Given the description of an element on the screen output the (x, y) to click on. 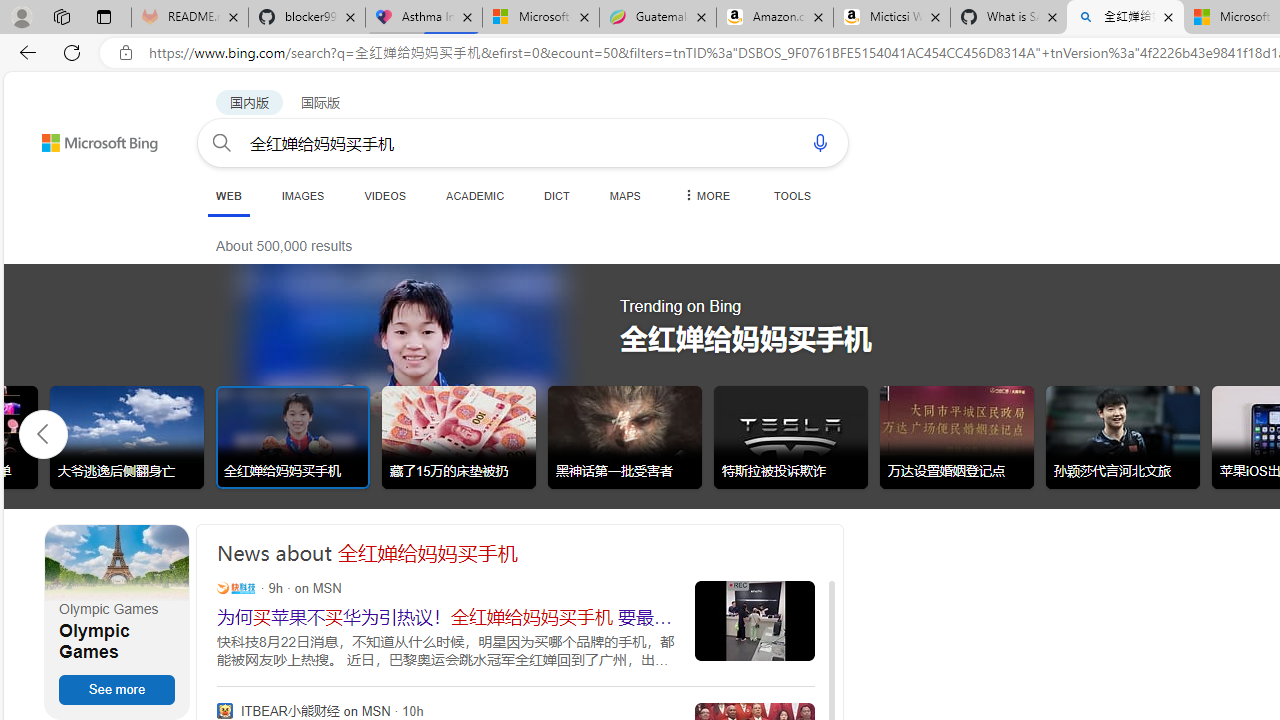
AutomationID: tob_left_arrow (43, 433)
